Given the description of an element on the screen output the (x, y) to click on. 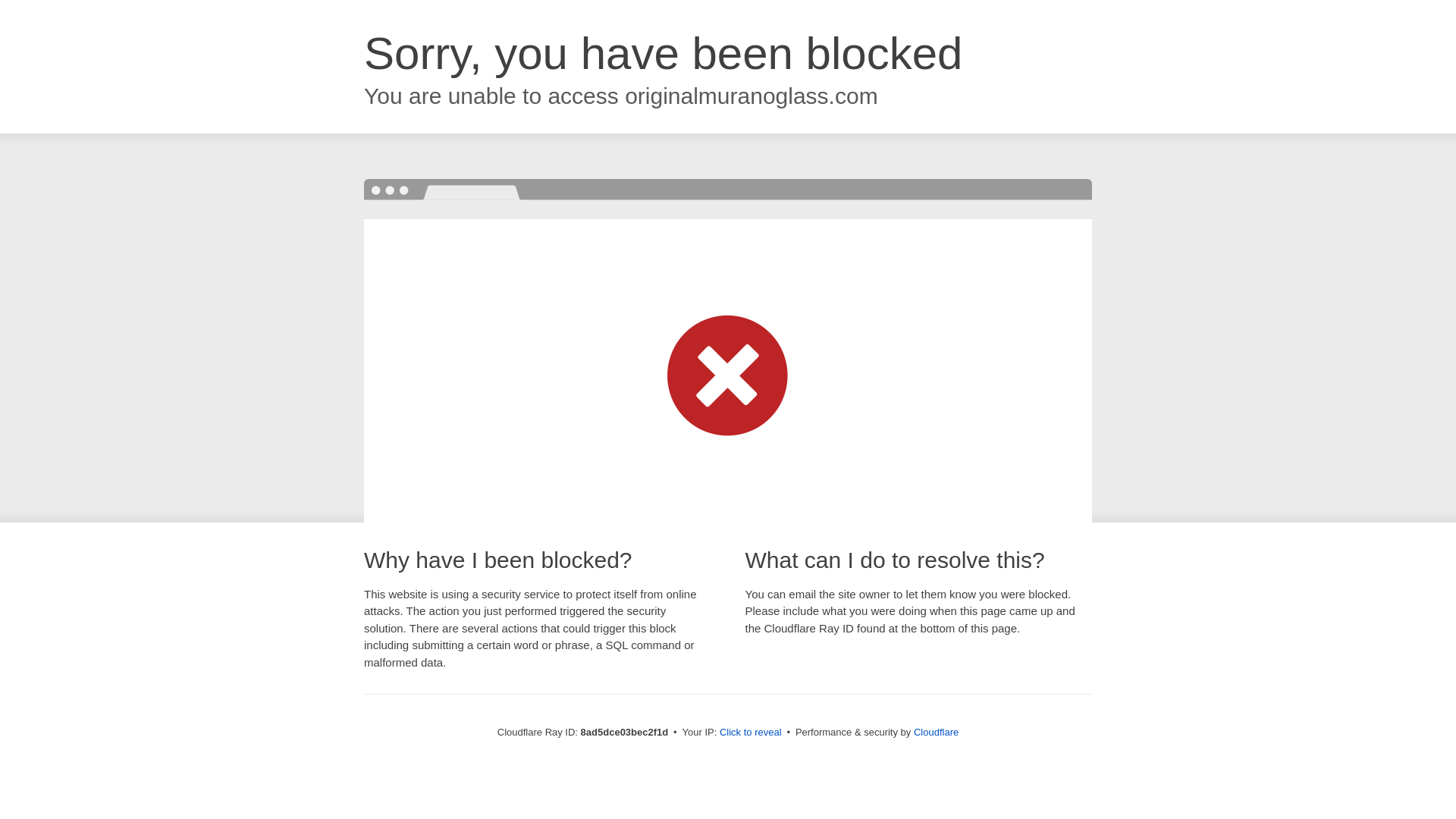
Cloudflare (936, 731)
Click to reveal (750, 732)
